Given the description of an element on the screen output the (x, y) to click on. 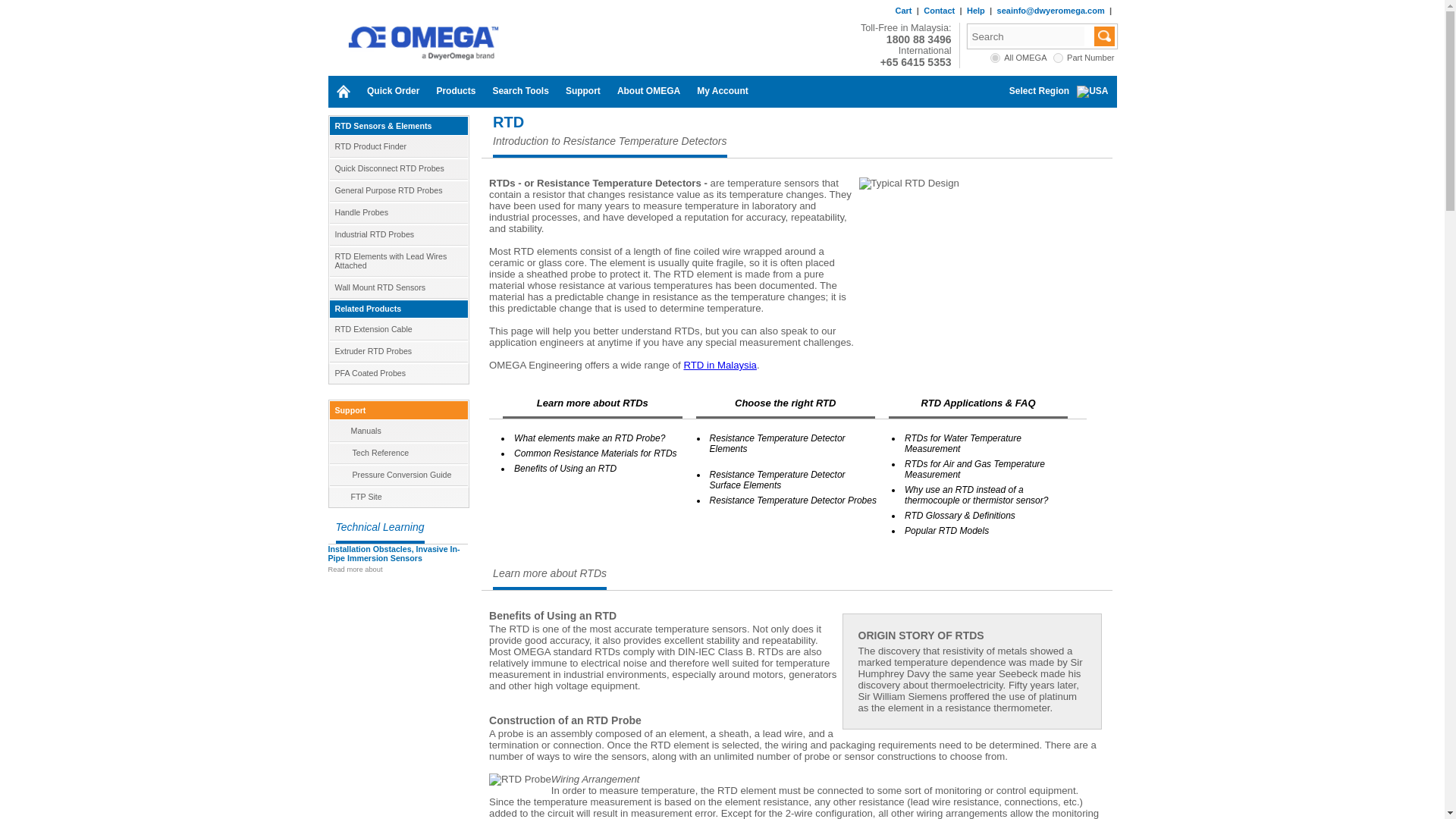
Cart (903, 10)
Products (455, 91)
Contact (939, 10)
allomega (995, 58)
Search Tools (519, 91)
Help (975, 10)
pn (1057, 58)
Quick Order (393, 91)
